Given the description of an element on the screen output the (x, y) to click on. 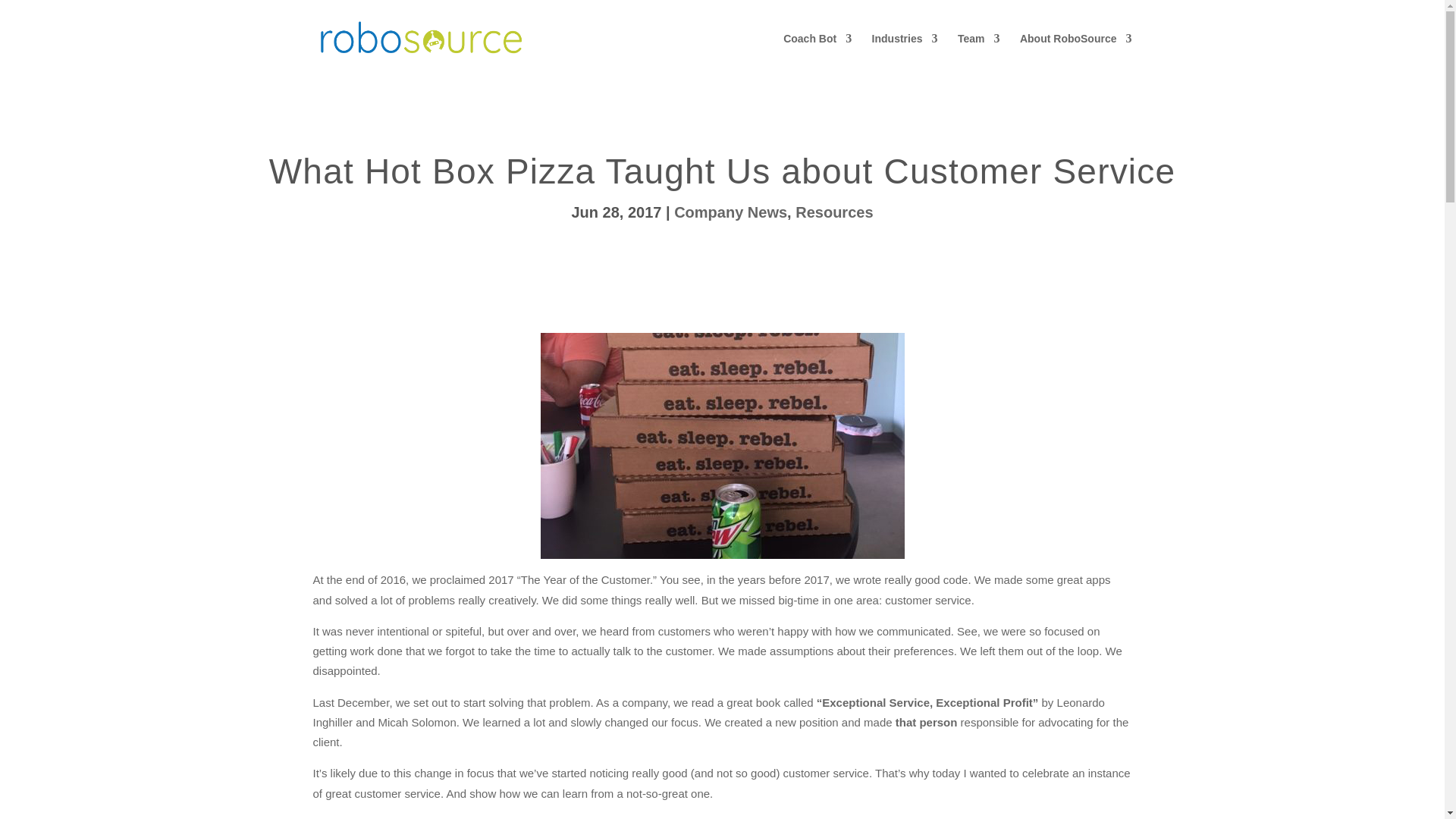
Industries (904, 54)
About RoboSource (1076, 54)
Coach Bot (817, 54)
Team (979, 54)
